Given the description of an element on the screen output the (x, y) to click on. 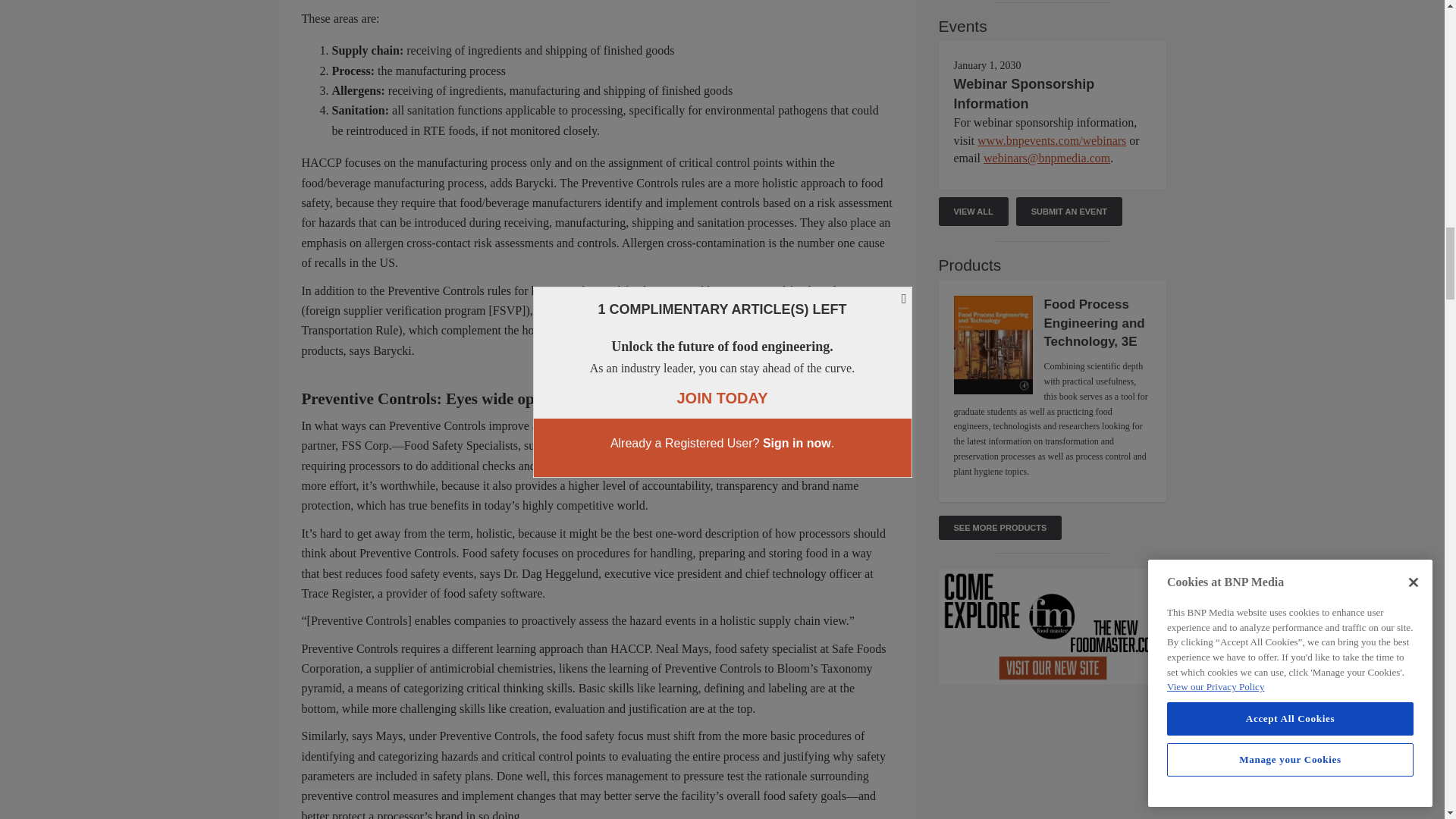
Webinar Sponsorship Information (1023, 93)
